Given the description of an element on the screen output the (x, y) to click on. 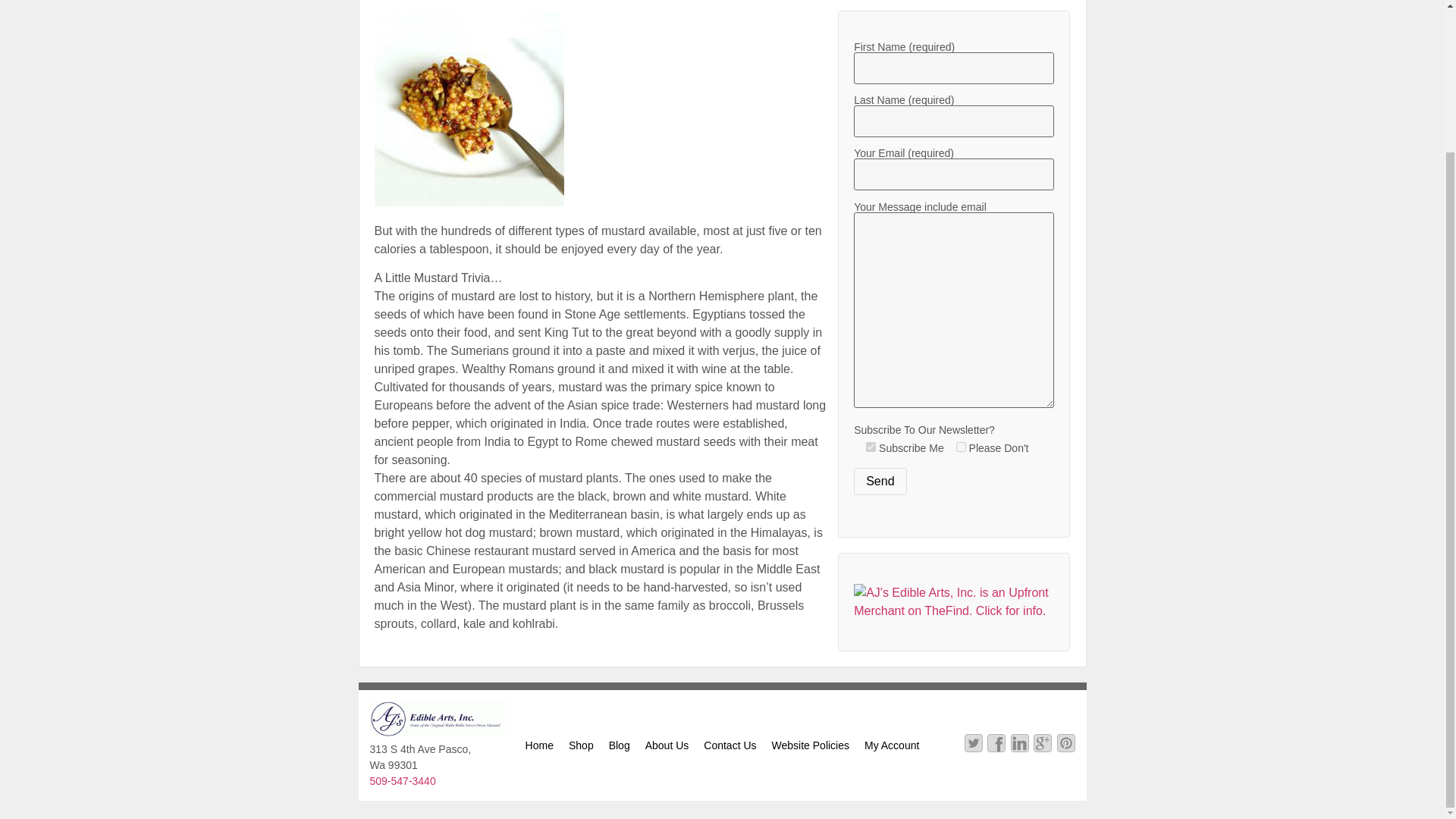
Shop (581, 745)
Website Policies (809, 745)
Contact Us (729, 745)
My Account (891, 745)
Please Don't (961, 447)
509-547-3440 (402, 780)
About Us (666, 745)
Home (539, 745)
Blog (619, 745)
Send (879, 481)
TheFind Upfront (953, 610)
Send (879, 481)
Subscribe Me (871, 447)
